Given the description of an element on the screen output the (x, y) to click on. 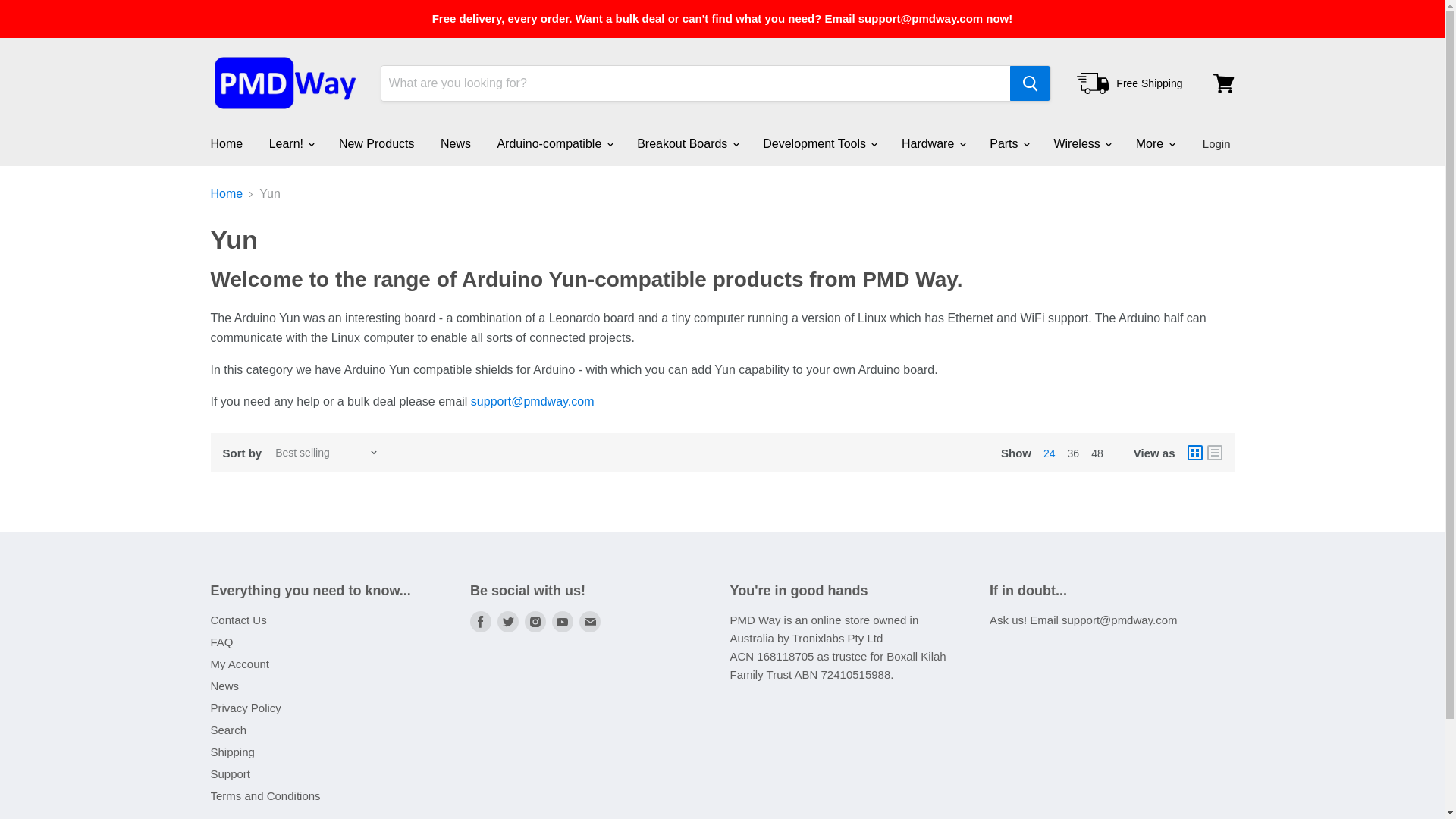
Arduino-compatible (552, 143)
E-mail (590, 621)
Instagram (534, 621)
Learn! (290, 143)
Youtube (562, 621)
News (455, 143)
Home (225, 143)
New Products (376, 143)
View cart (1223, 83)
Facebook (481, 621)
